Given the description of an element on the screen output the (x, y) to click on. 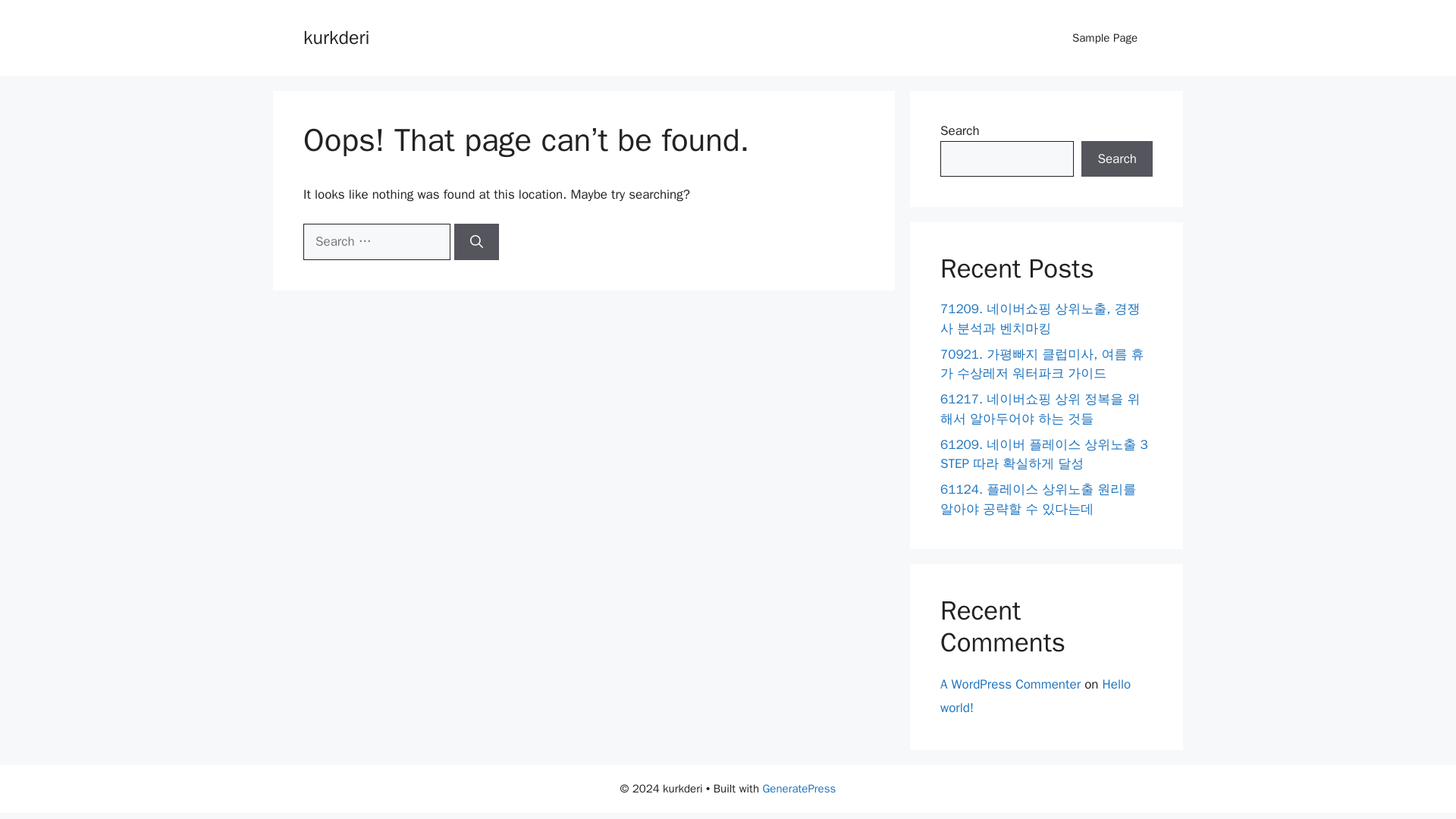
kurkderi (335, 37)
A WordPress Commenter (1010, 684)
Sample Page (1105, 37)
GeneratePress (798, 788)
Hello world! (1035, 695)
Search for: (375, 241)
Search (1117, 158)
